Given the description of an element on the screen output the (x, y) to click on. 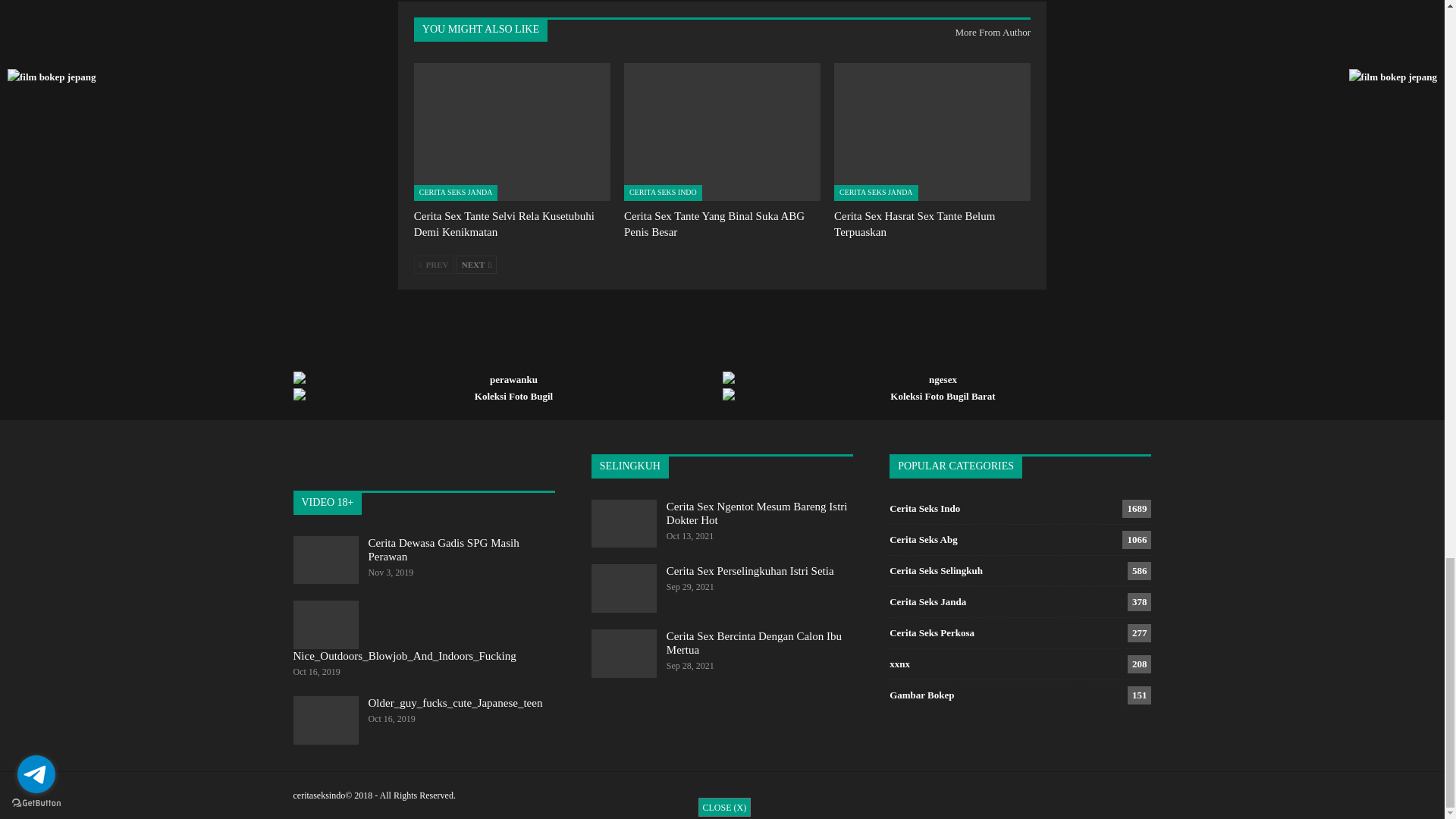
Cerita Sex Tante Yang Binal Suka ABG Penis Besar (722, 131)
Cerita Sex Tante Selvi Rela Kusetubuhi Demi Kenikmatan (511, 131)
Previous (433, 264)
Cerita Sex Hasrat Sex Tante Belum Terpuaskan (914, 223)
Cerita Sex Tante Yang Binal Suka ABG Penis Besar (714, 223)
Cerita Sex Hasrat Sex Tante Belum Terpuaskan (932, 131)
Cerita Sex Tante Selvi Rela Kusetubuhi Demi Kenikmatan (503, 223)
Next (476, 264)
